Given the description of an element on the screen output the (x, y) to click on. 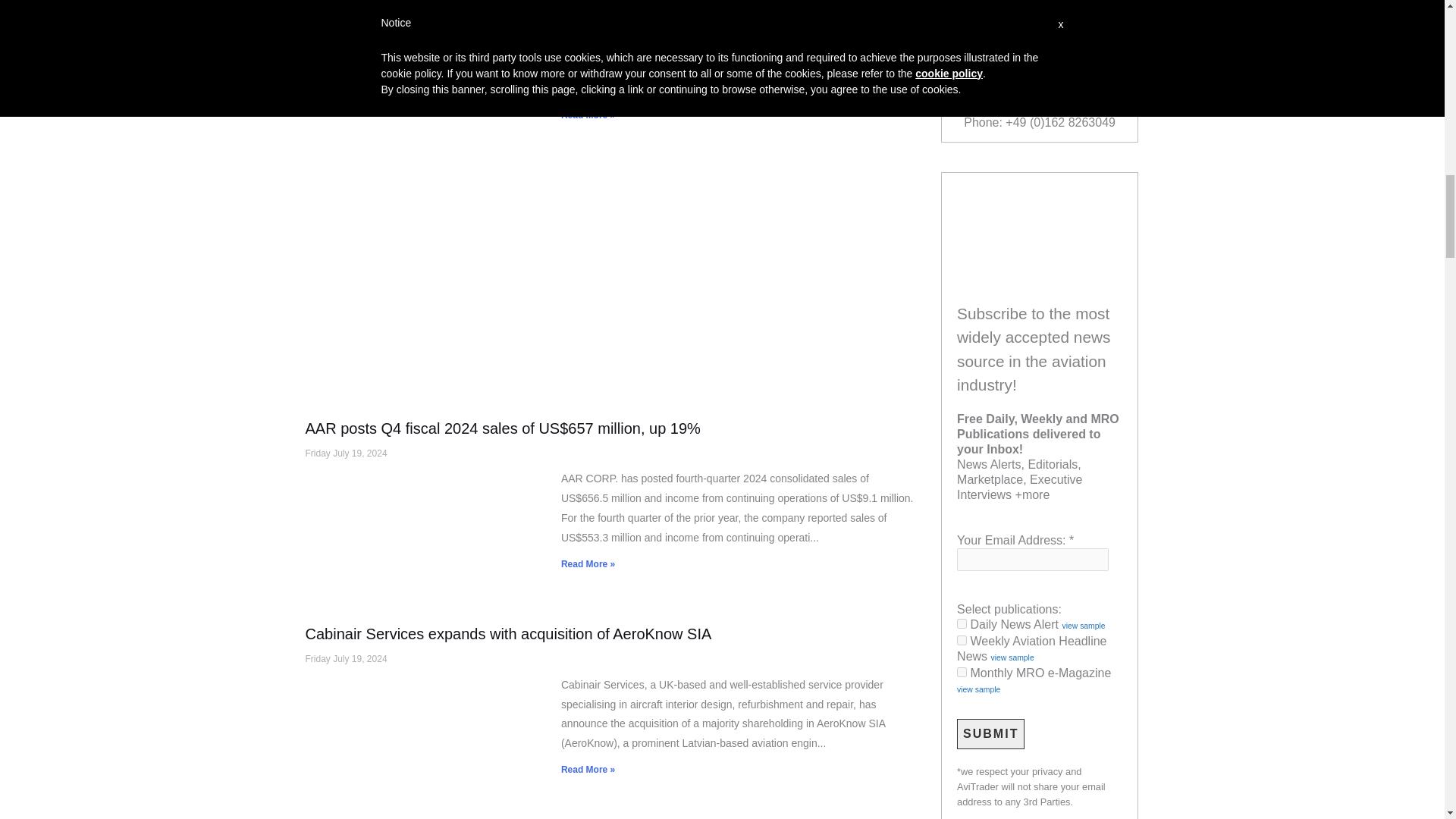
Your Email Address: (1032, 558)
12 (961, 672)
11 (961, 640)
Submit (990, 734)
10 (961, 623)
